Given the description of an element on the screen output the (x, y) to click on. 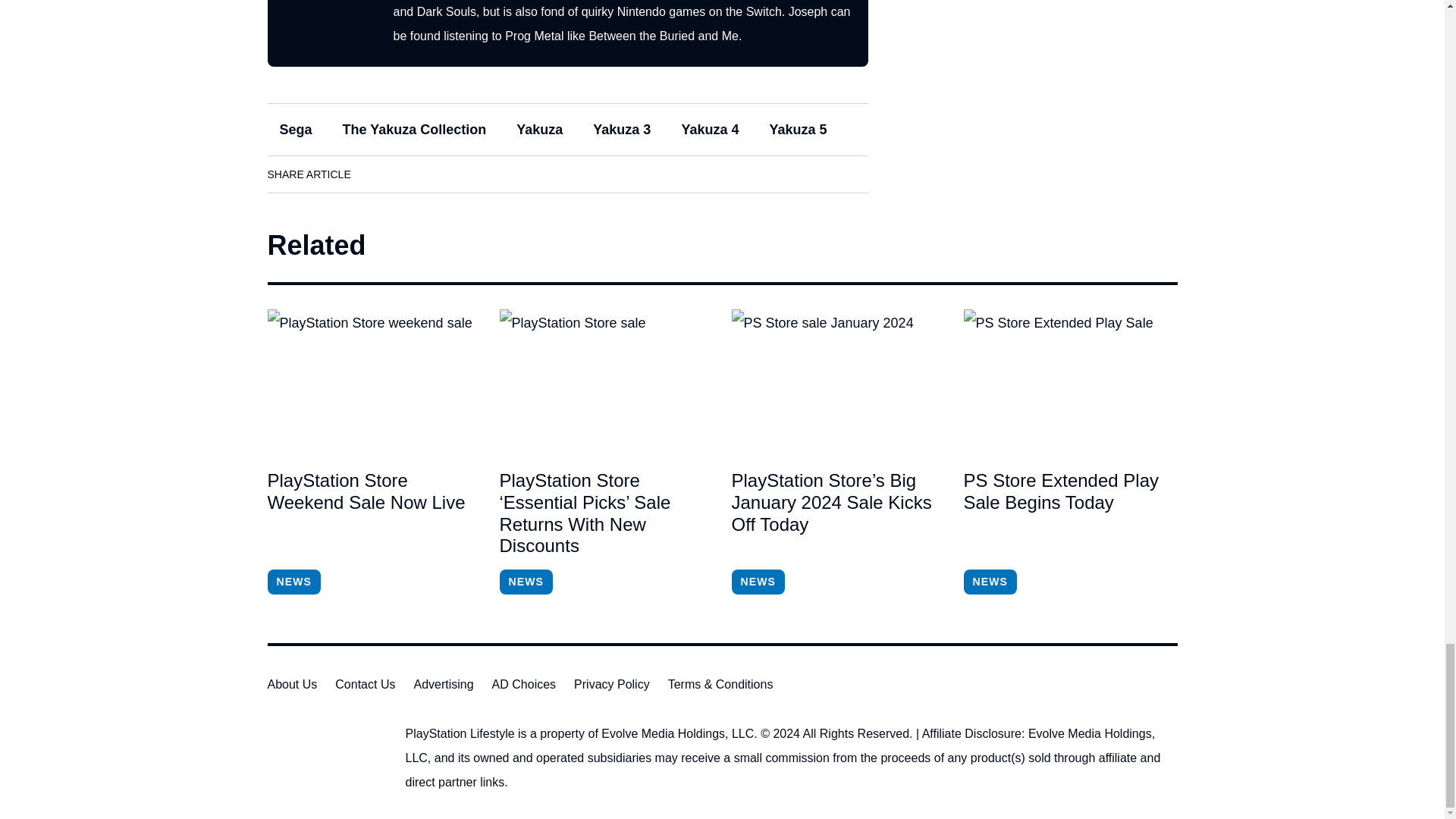
Yakuza (539, 129)
LinkedIn (420, 174)
The Yakuza Collection (414, 129)
Yakuza 5 (797, 129)
Sega (294, 129)
PlayStation Store Weekend Sale Now Live (373, 513)
Facebook (377, 174)
PlayStation Store Weekend Sale Now Live (373, 380)
Pinterest (505, 174)
Twitter (463, 174)
